Given the description of an element on the screen output the (x, y) to click on. 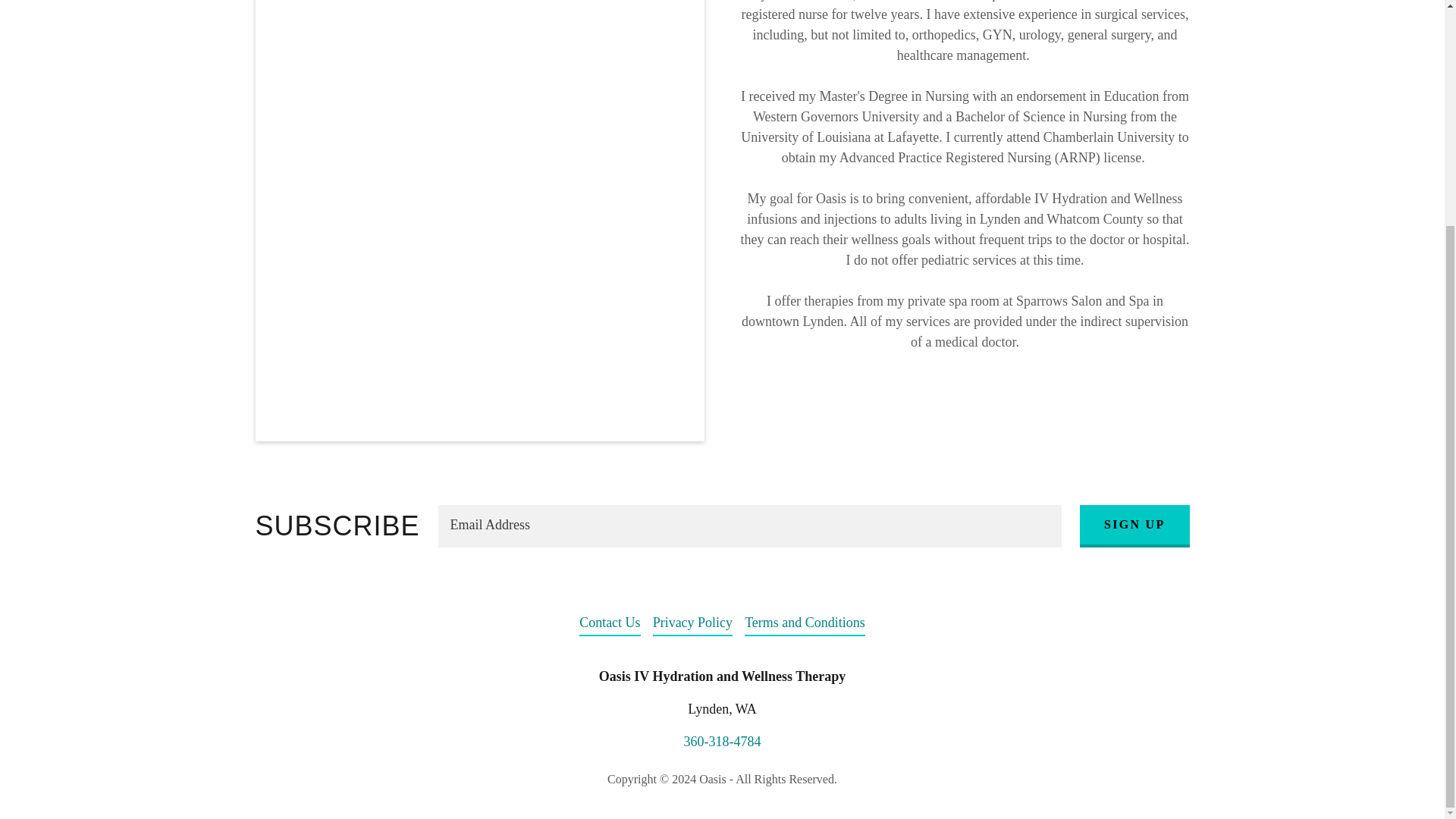
Terms and Conditions (804, 623)
360-318-4784 (722, 741)
Privacy Policy (692, 623)
SIGN UP (1134, 526)
Contact Us (609, 623)
